Given the description of an element on the screen output the (x, y) to click on. 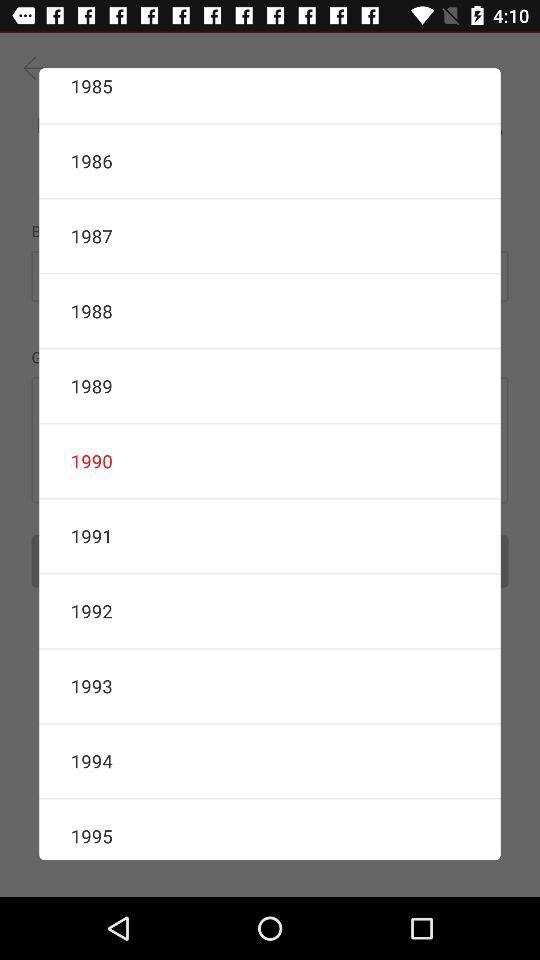
launch item above the 1990 (269, 386)
